Given the description of an element on the screen output the (x, y) to click on. 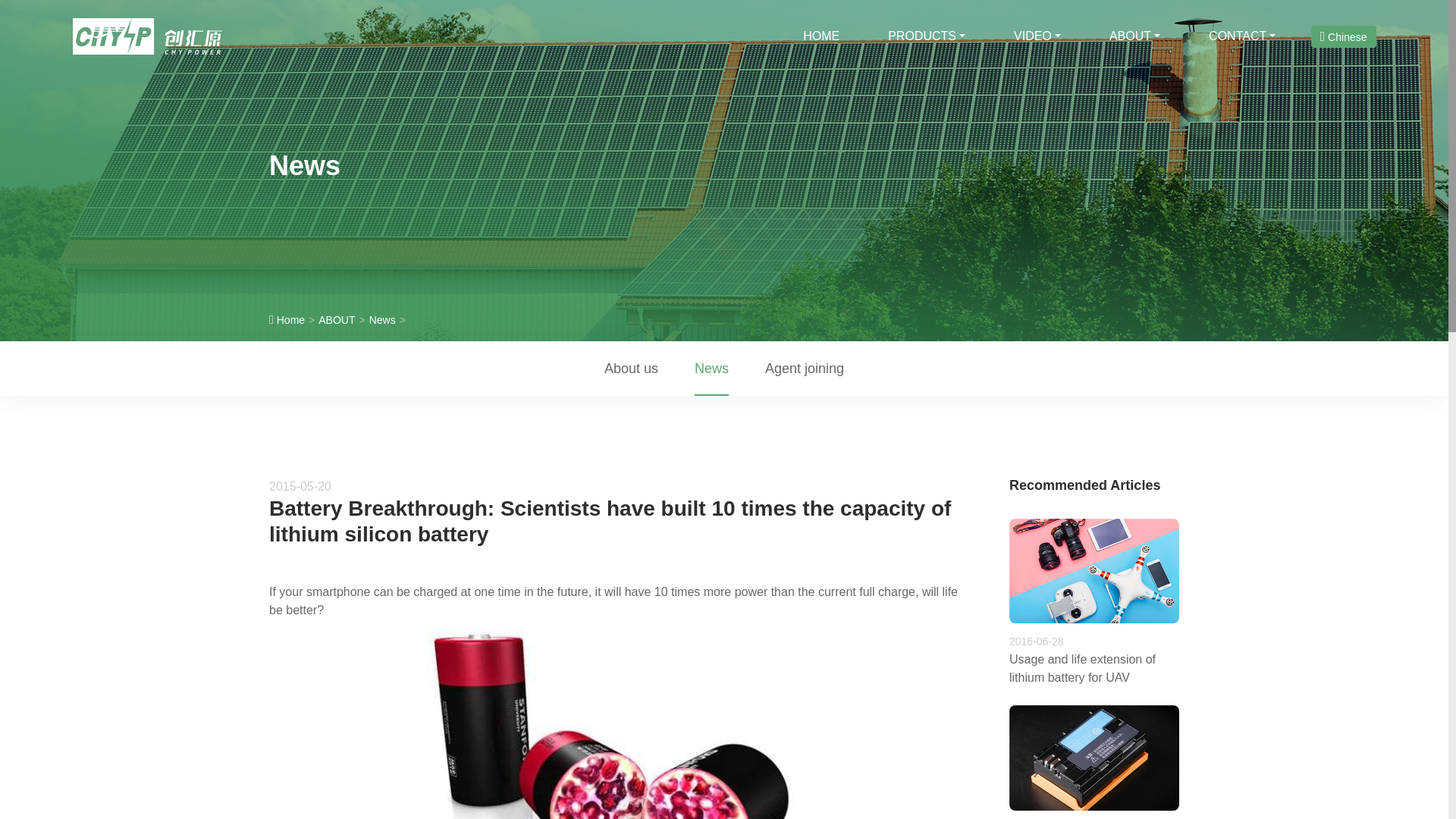
HOME (820, 36)
PRODUCTS (926, 36)
ABOUT (1133, 36)
CONTACT (1242, 36)
HOME (820, 36)
VIDEO (1036, 36)
About us (631, 368)
ABOUT (343, 319)
PRODUCTS (926, 36)
CONTACT (1242, 36)
VIDEO (1036, 36)
ABOUT (1133, 36)
Home (293, 319)
News (389, 319)
Chinese (1343, 36)
